Given the description of an element on the screen output the (x, y) to click on. 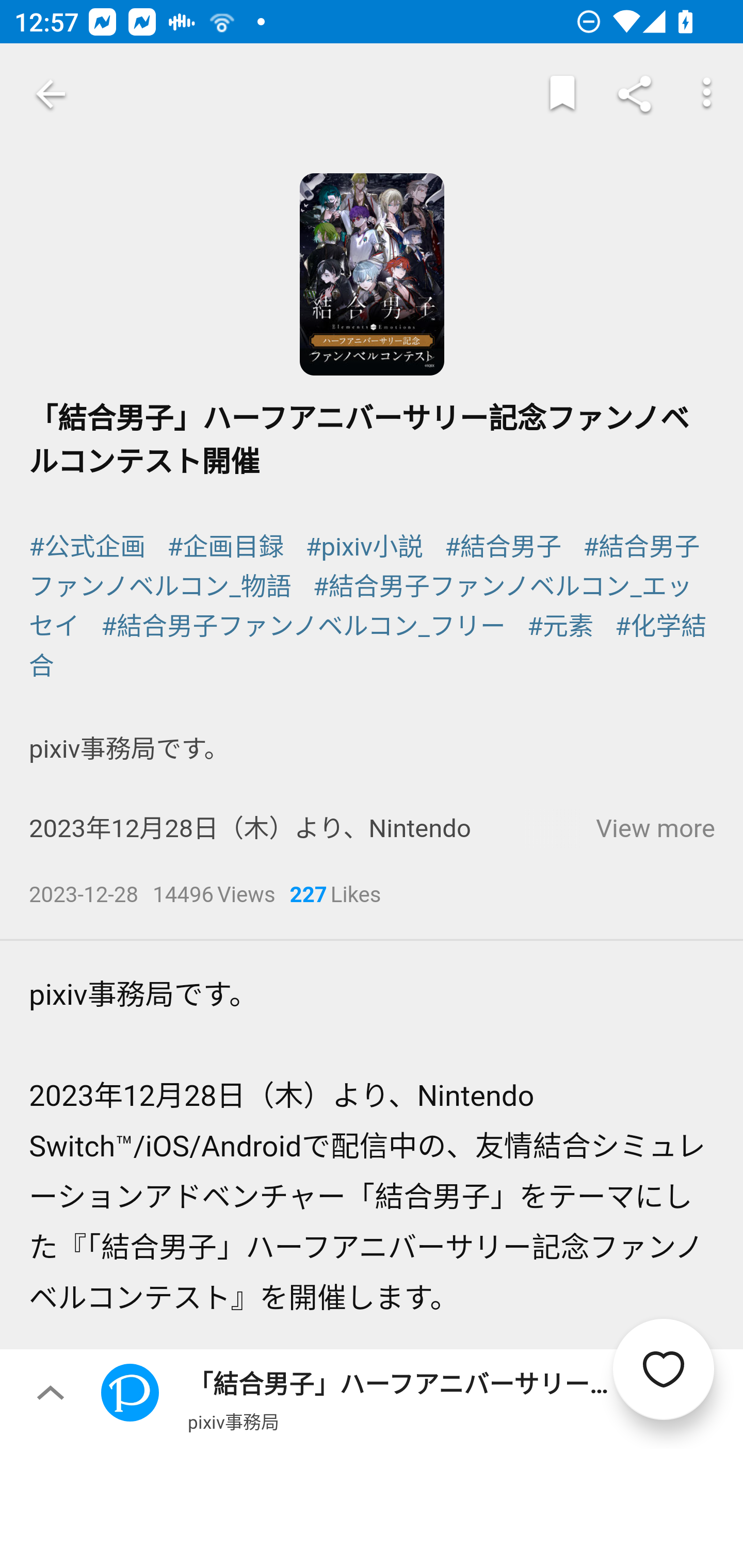
Navigate up (50, 93)
Markers (562, 93)
Share (634, 93)
More options (706, 93)
#公式企画 (87, 545)
#企画目録 (225, 545)
#pixiv小説 (364, 545)
#結合男子 (503, 545)
#結合男子ファンノベルコン_エッセイ (360, 606)
View more (654, 829)
227Likes (335, 896)
pixiv事務局 (233, 1421)
